Given the description of an element on the screen output the (x, y) to click on. 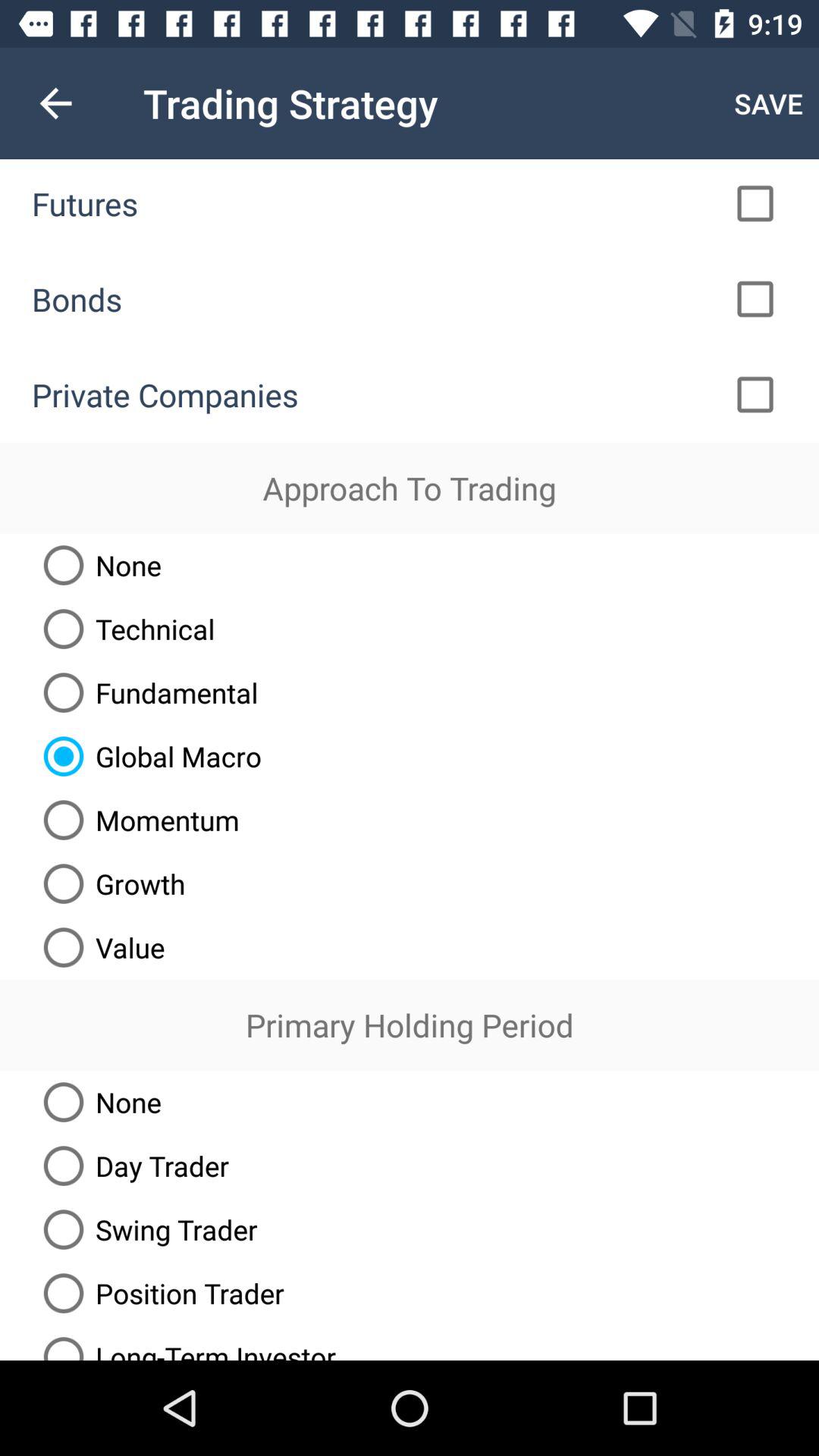
choose radio button above momentum (146, 756)
